Given the description of an element on the screen output the (x, y) to click on. 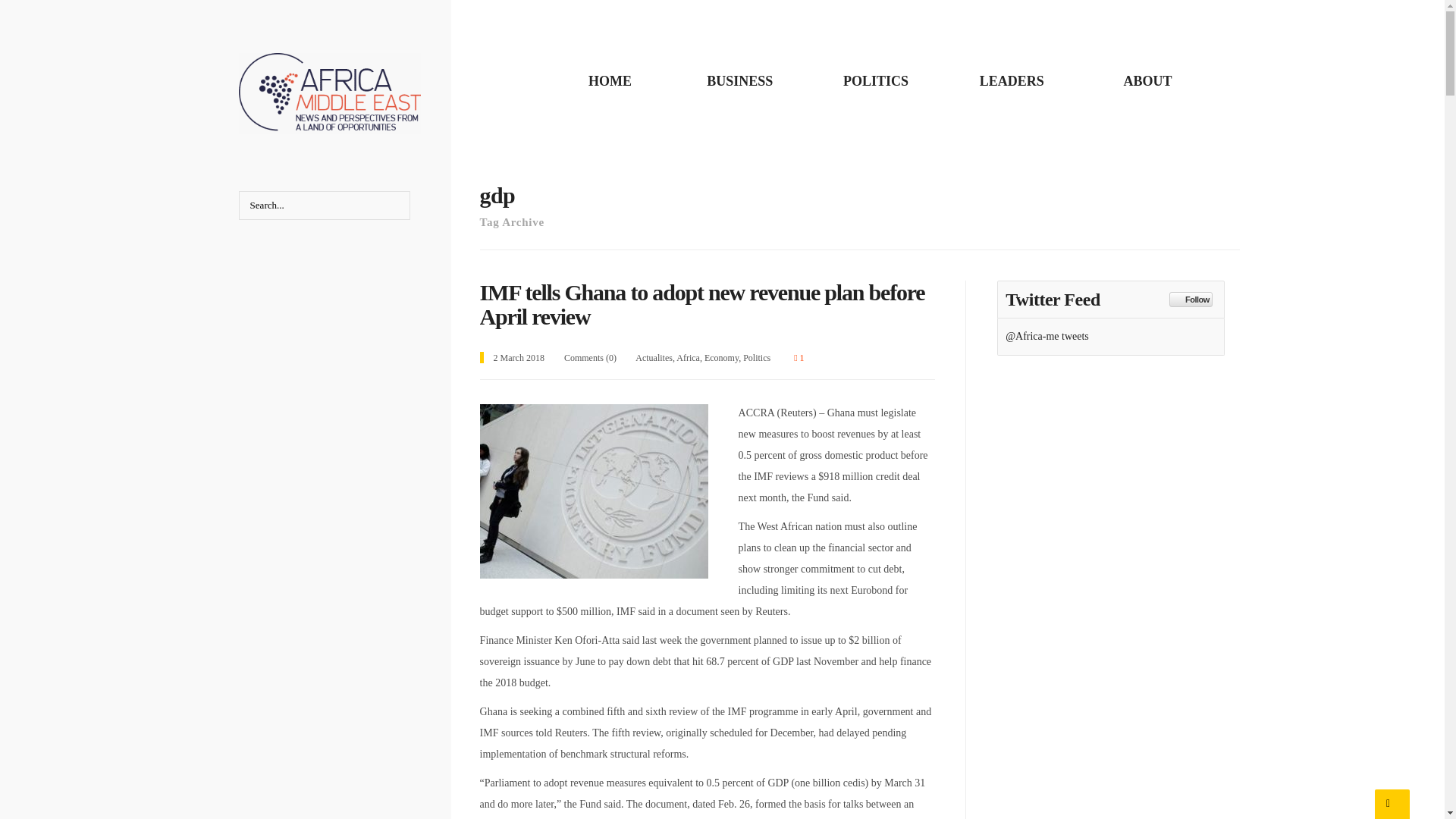
 1 (798, 357)
Politics (756, 357)
POLITICS (875, 80)
Africa (688, 357)
LEADERS (1011, 80)
Economy (721, 357)
HOME (609, 80)
ABOUT (1147, 80)
Search... (324, 205)
BUSINESS (739, 80)
Actualites (653, 357)
Like (798, 357)
